Given the description of an element on the screen output the (x, y) to click on. 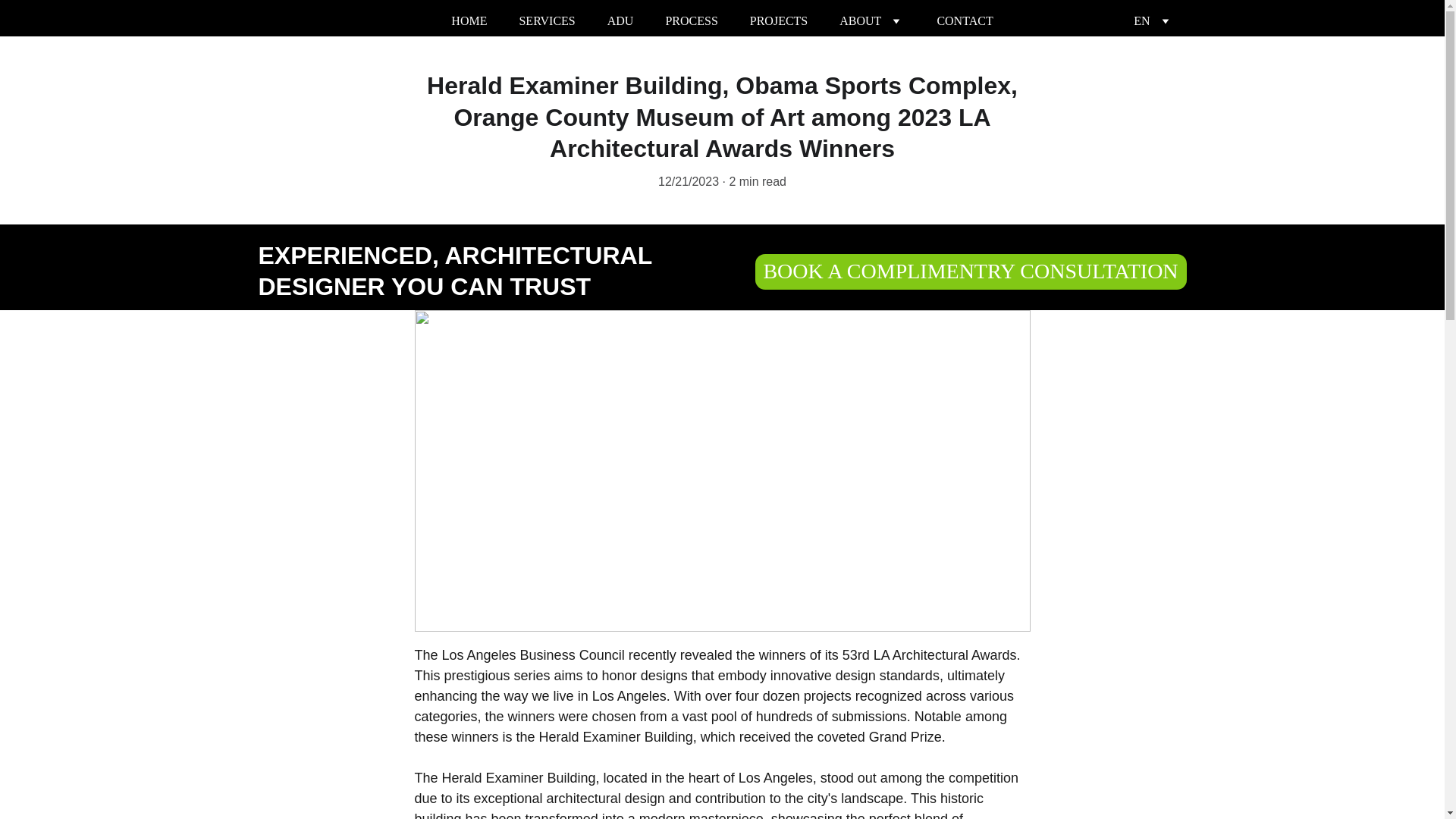
BOOK A COMPLIMENTRY CONSULTATION (970, 271)
PROJECTS (778, 21)
HOME (468, 21)
ABOUT (860, 21)
SERVICES (546, 21)
ADU (620, 21)
PROCESS (691, 21)
CONTACT (964, 21)
